Given the description of an element on the screen output the (x, y) to click on. 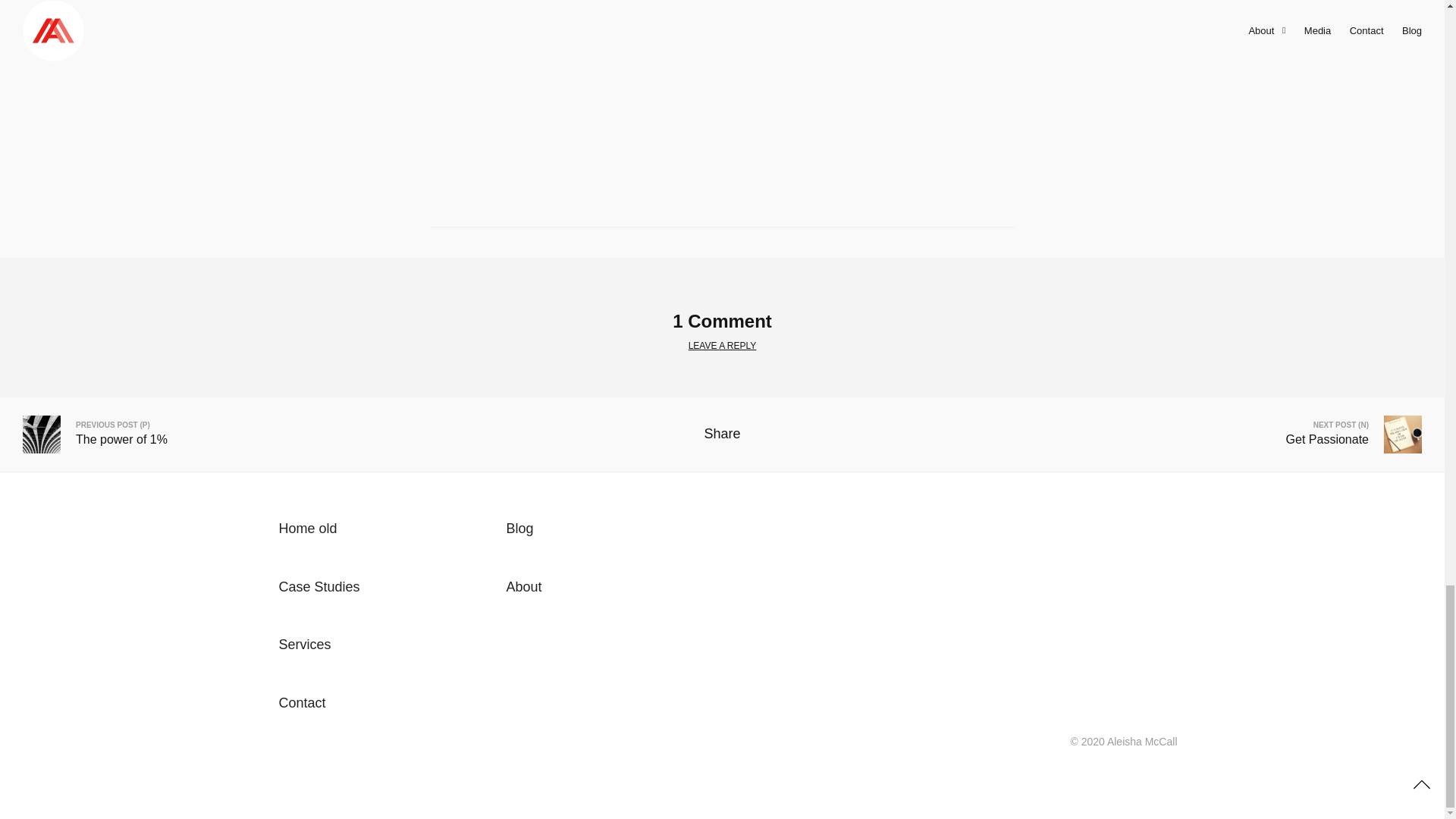
CONVICTION - Official Trailer (722, 82)
Share (721, 433)
Home old (308, 528)
Case Studies (319, 585)
LEAVE A REPLY (722, 345)
Services (305, 644)
